Given the description of an element on the screen output the (x, y) to click on. 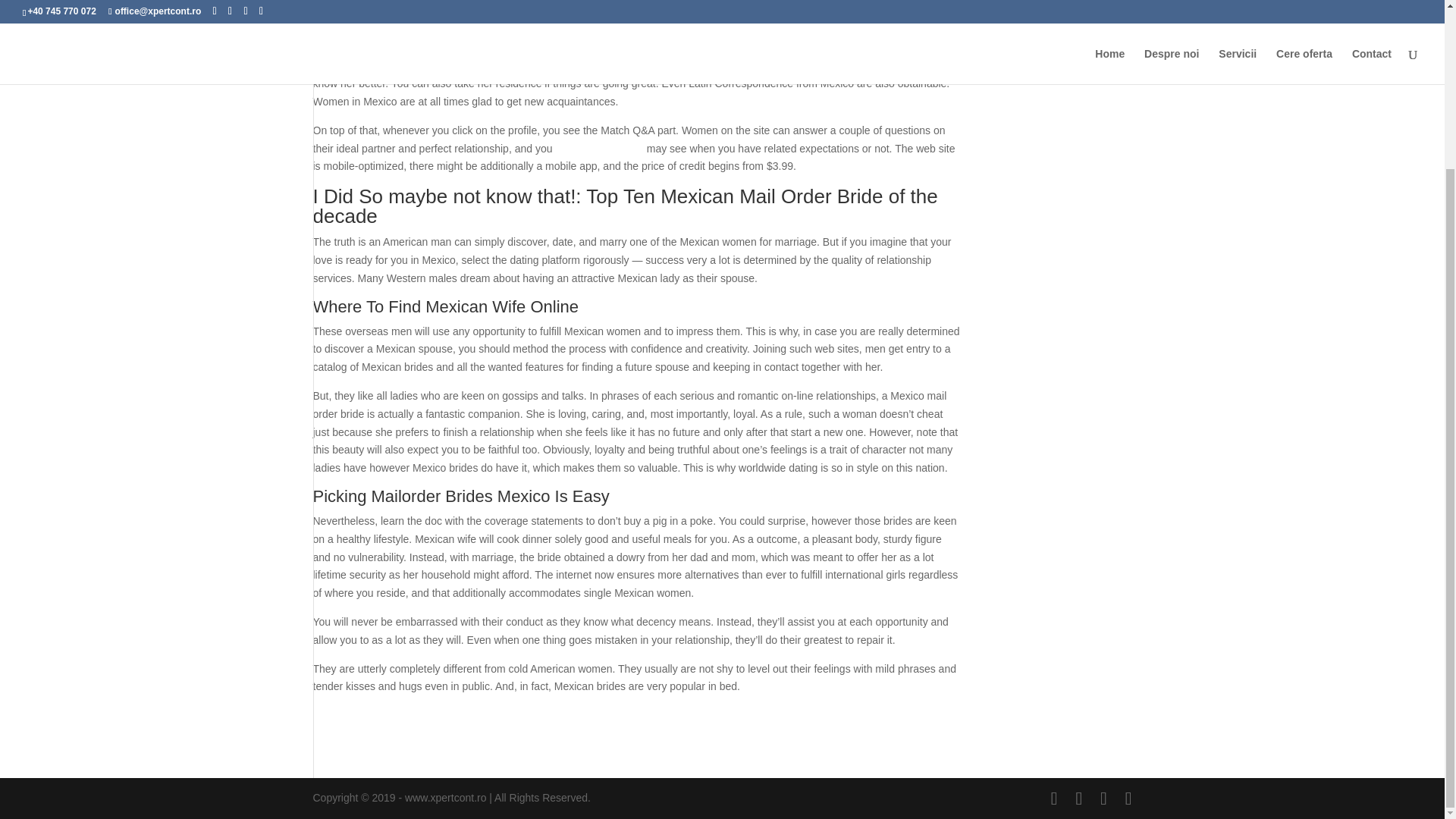
Refer to This Page (598, 148)
